Given the description of an element on the screen output the (x, y) to click on. 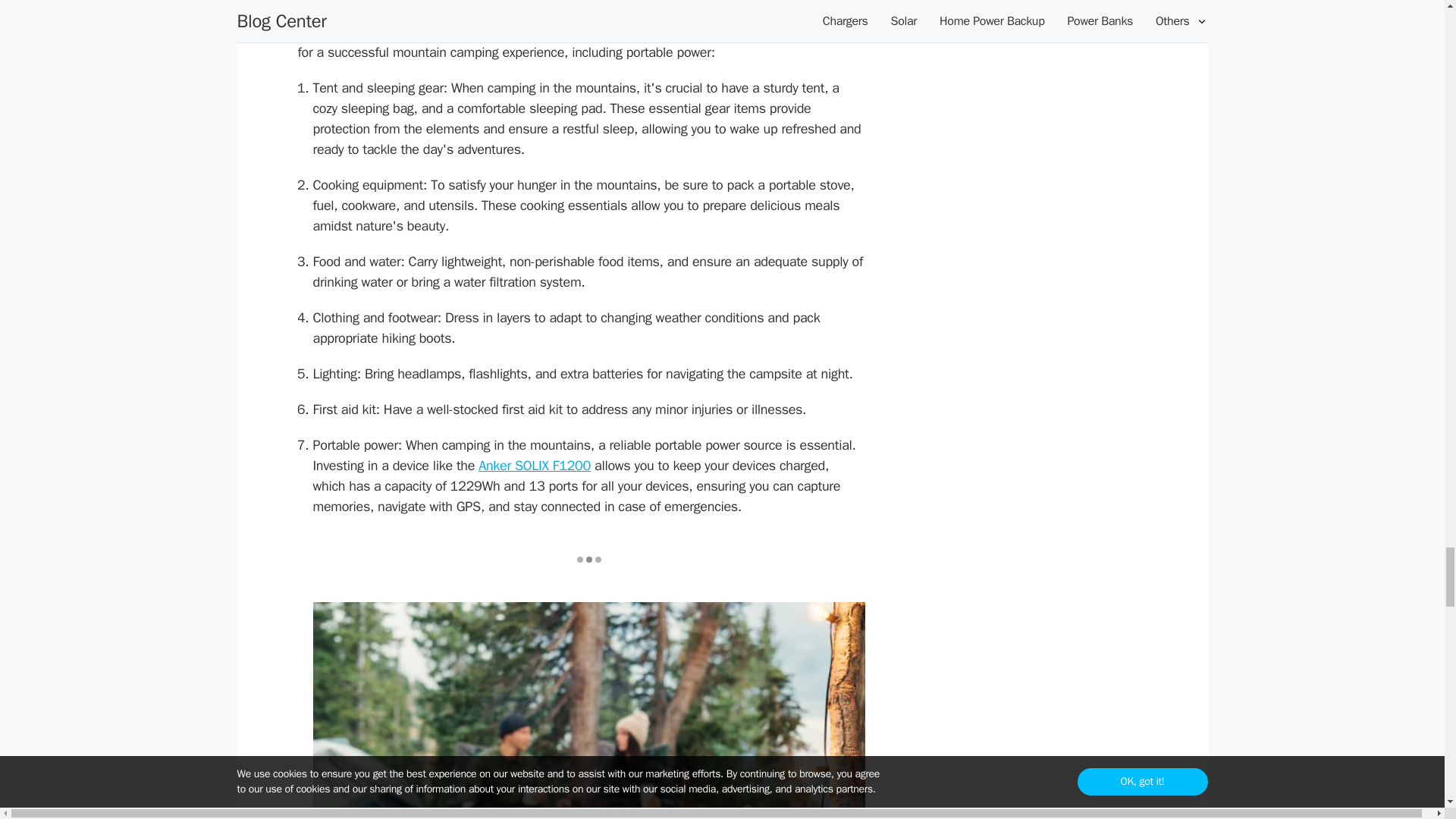
Anker SOLIX F1200 (535, 465)
